Given the description of an element on the screen output the (x, y) to click on. 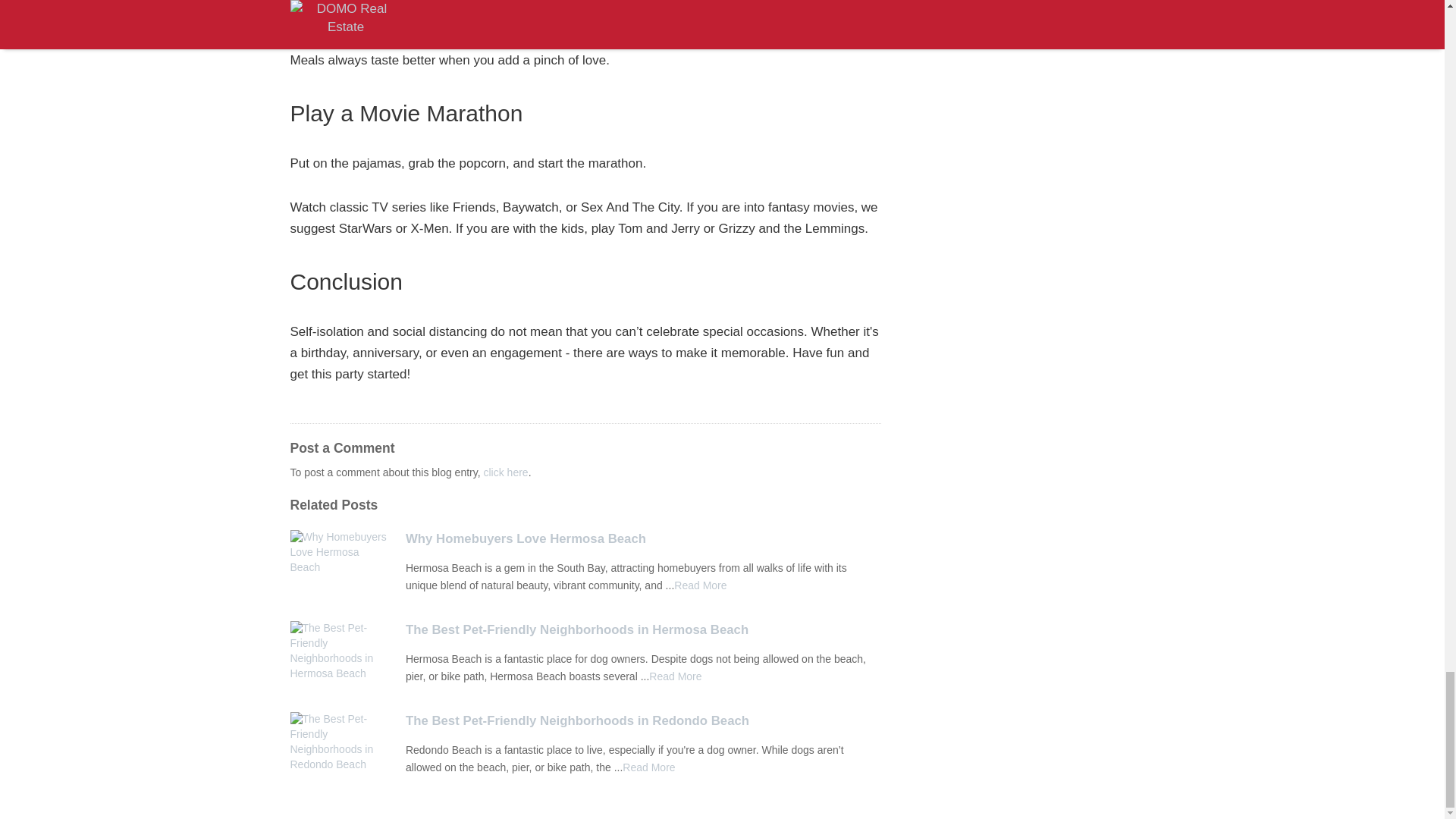
Why Homebuyers Love Hermosa Beach (643, 538)
The Best Pet-Friendly Neighborhoods in Redondo Beach (643, 720)
The Best Pet-Friendly Neighborhoods in Hermosa Beach (643, 629)
